Given the description of an element on the screen output the (x, y) to click on. 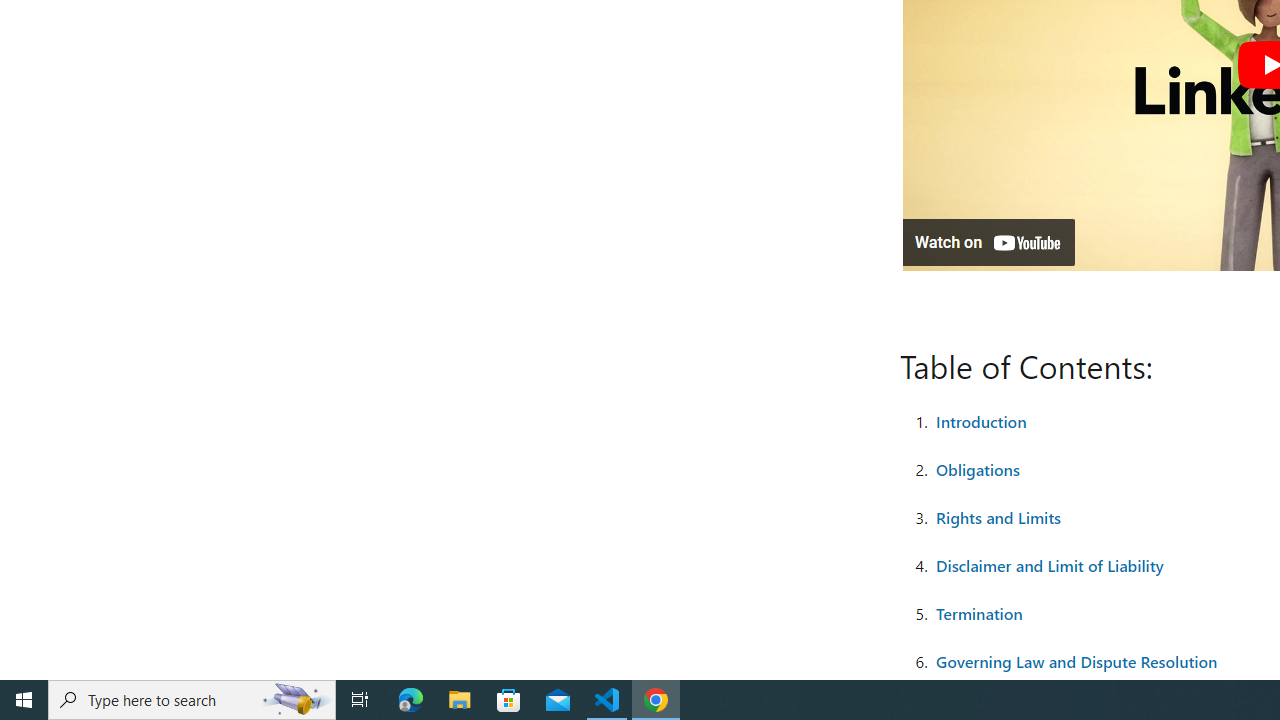
Watch on YouTube (988, 241)
Rights and Limits (998, 516)
Governing Law and Dispute Resolution (1076, 660)
Termination (978, 612)
Obligations (977, 468)
Disclaimer and Limit of Liability (1049, 564)
